Given the description of an element on the screen output the (x, y) to click on. 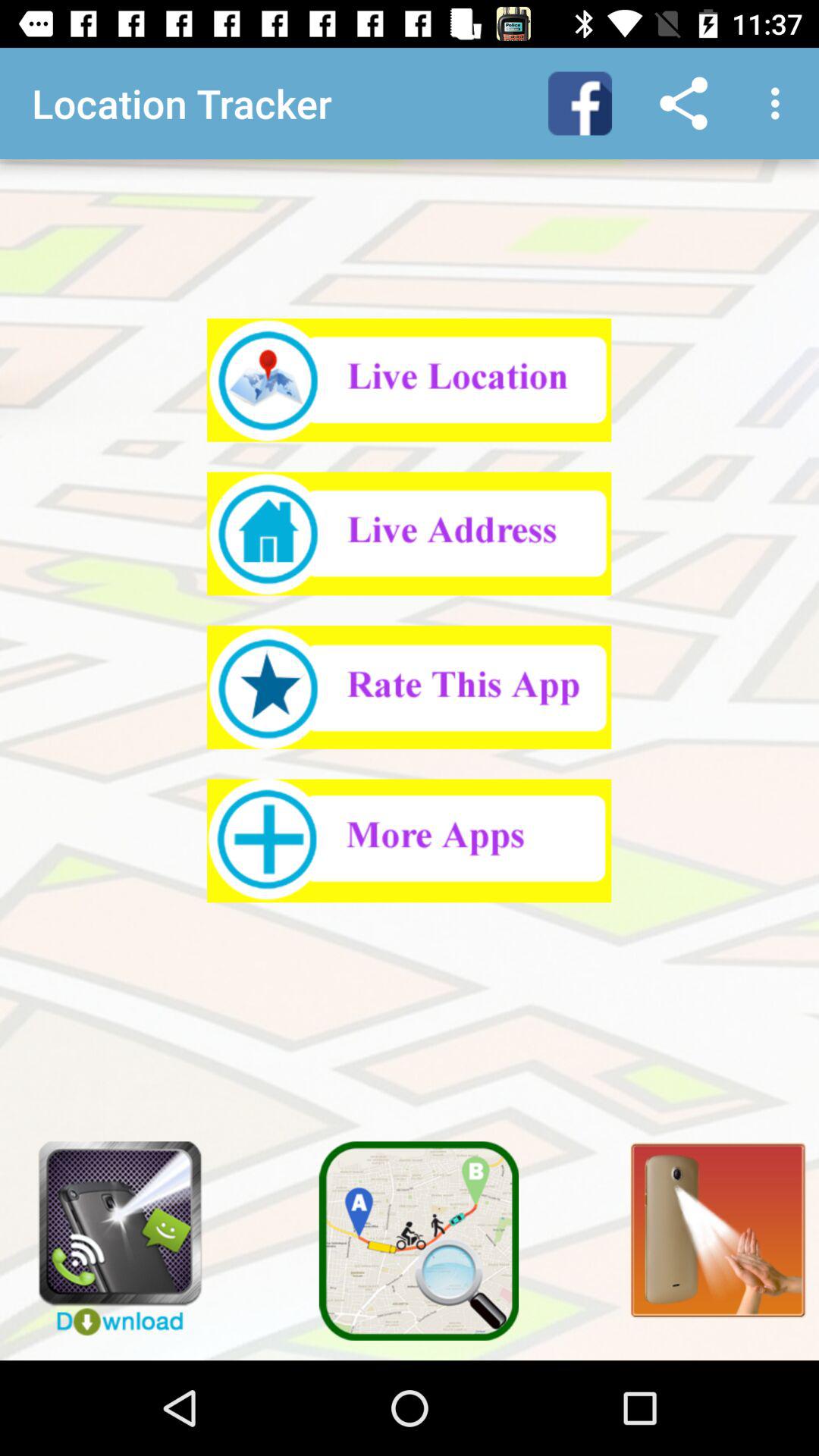
share on facebook (579, 103)
